Given the description of an element on the screen output the (x, y) to click on. 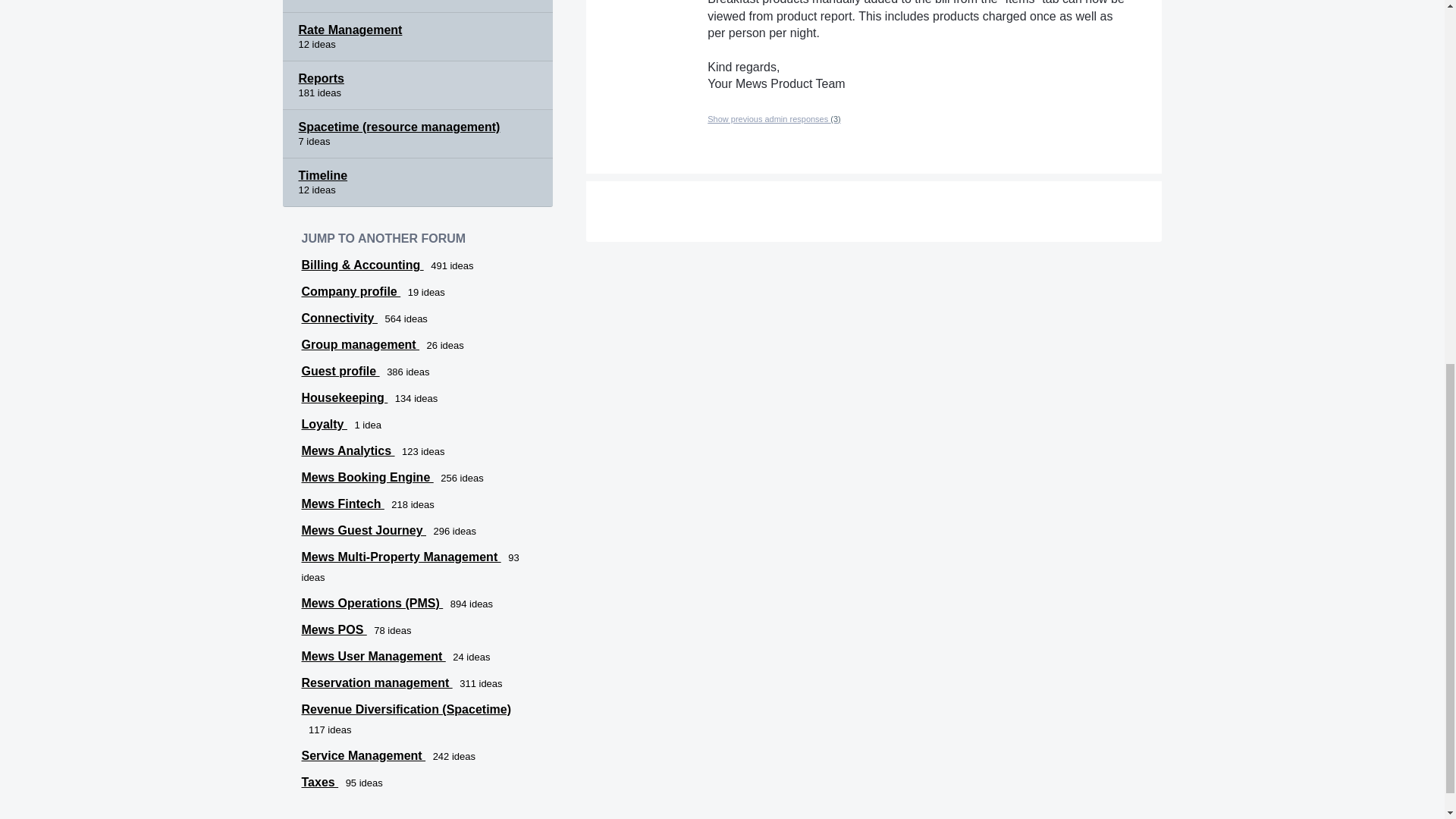
Rate Management (417, 37)
Group management (360, 344)
Loyalty (324, 423)
Connectivity (339, 318)
View all ideas in Guest profile (340, 370)
View all ideas in category Rate Management (417, 37)
Mews POS (333, 629)
View all ideas in category Reports (417, 85)
View all ideas in Group management (360, 344)
Mews Multi-Property Management (400, 556)
